Given the description of an element on the screen output the (x, y) to click on. 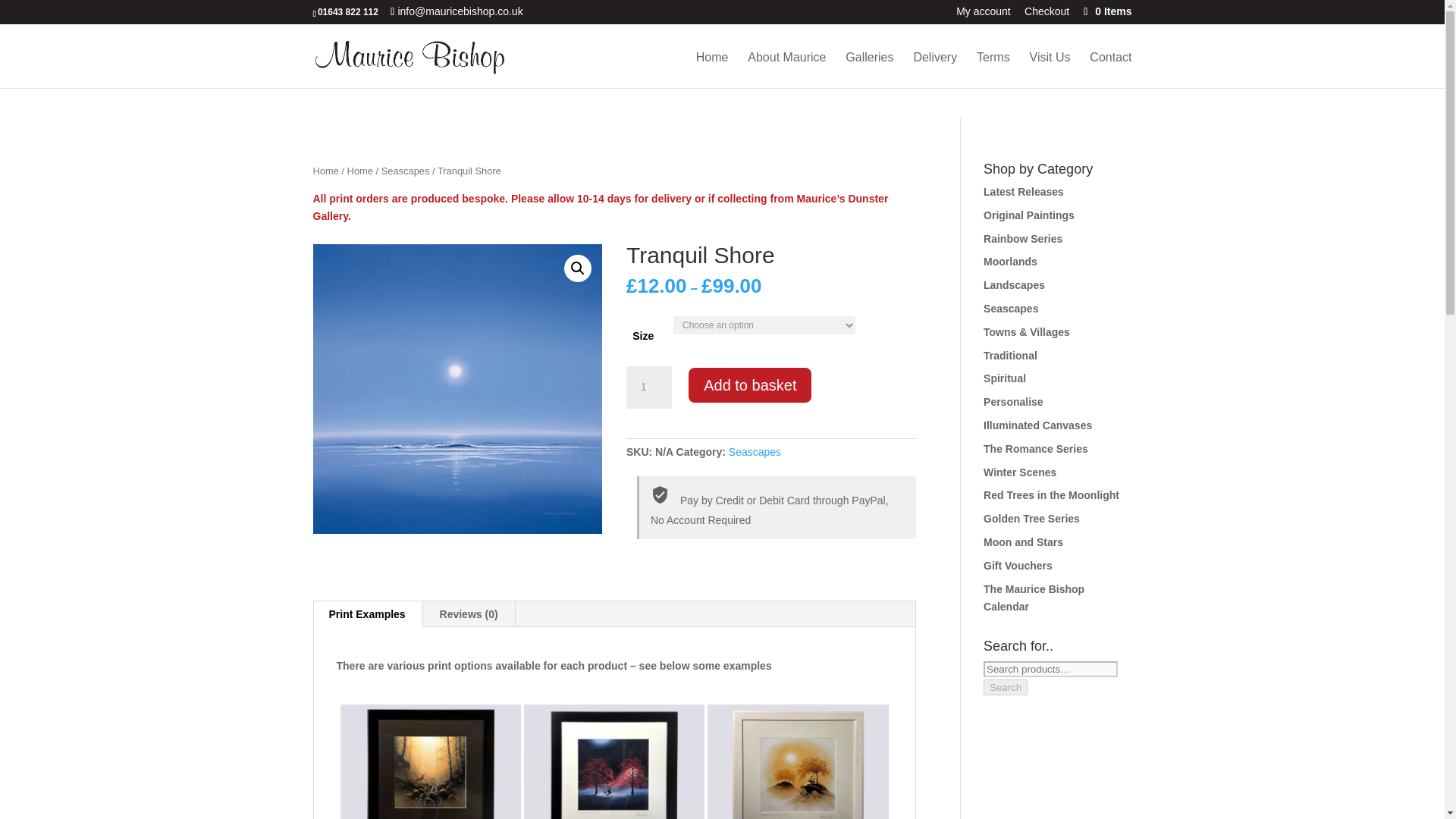
Terms (993, 69)
Galleries (869, 69)
0 Items (1105, 10)
Home (359, 170)
Checkout (1046, 15)
Visit Us (1049, 69)
Print Examples (367, 614)
Seascapes (754, 451)
Seascapes (405, 170)
Contact (1110, 69)
Home (712, 69)
Mounted print with white mount in white frame (797, 751)
My account (983, 15)
Add to basket (749, 385)
Home (325, 170)
